Given the description of an element on the screen output the (x, y) to click on. 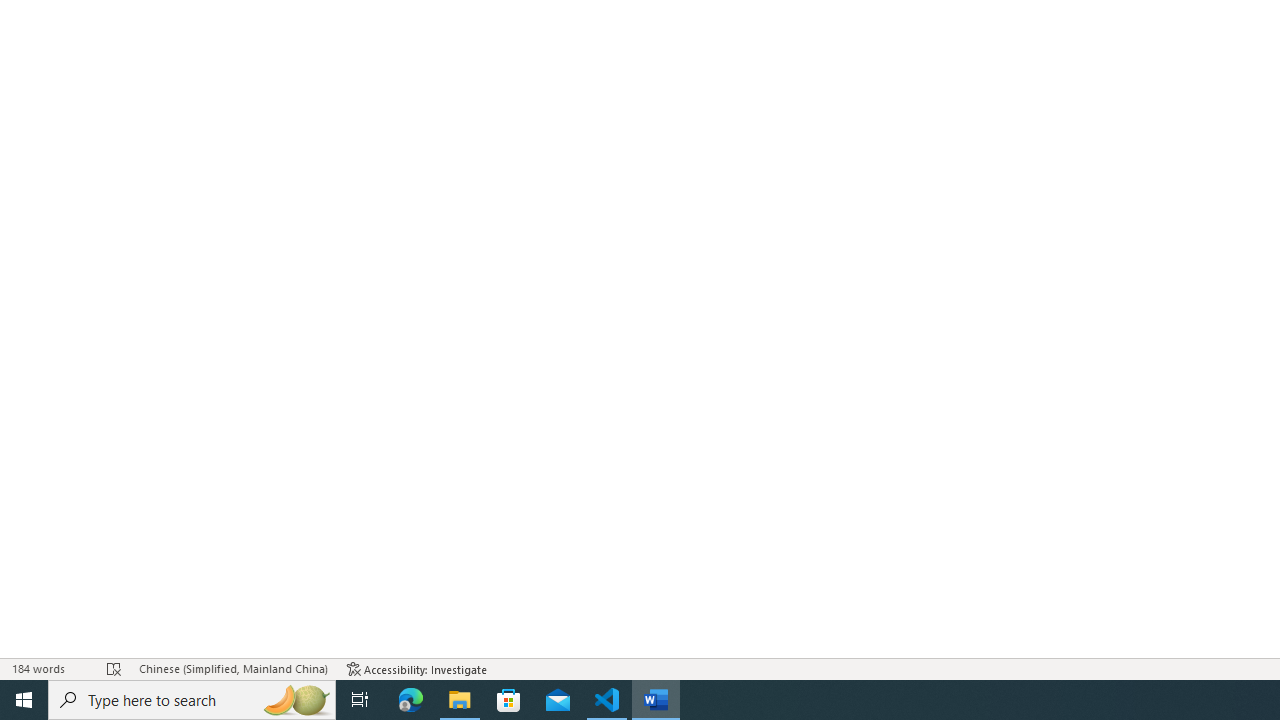
Spelling and Grammar Check Errors (114, 668)
Word Count 184 words (49, 668)
